Given the description of an element on the screen output the (x, y) to click on. 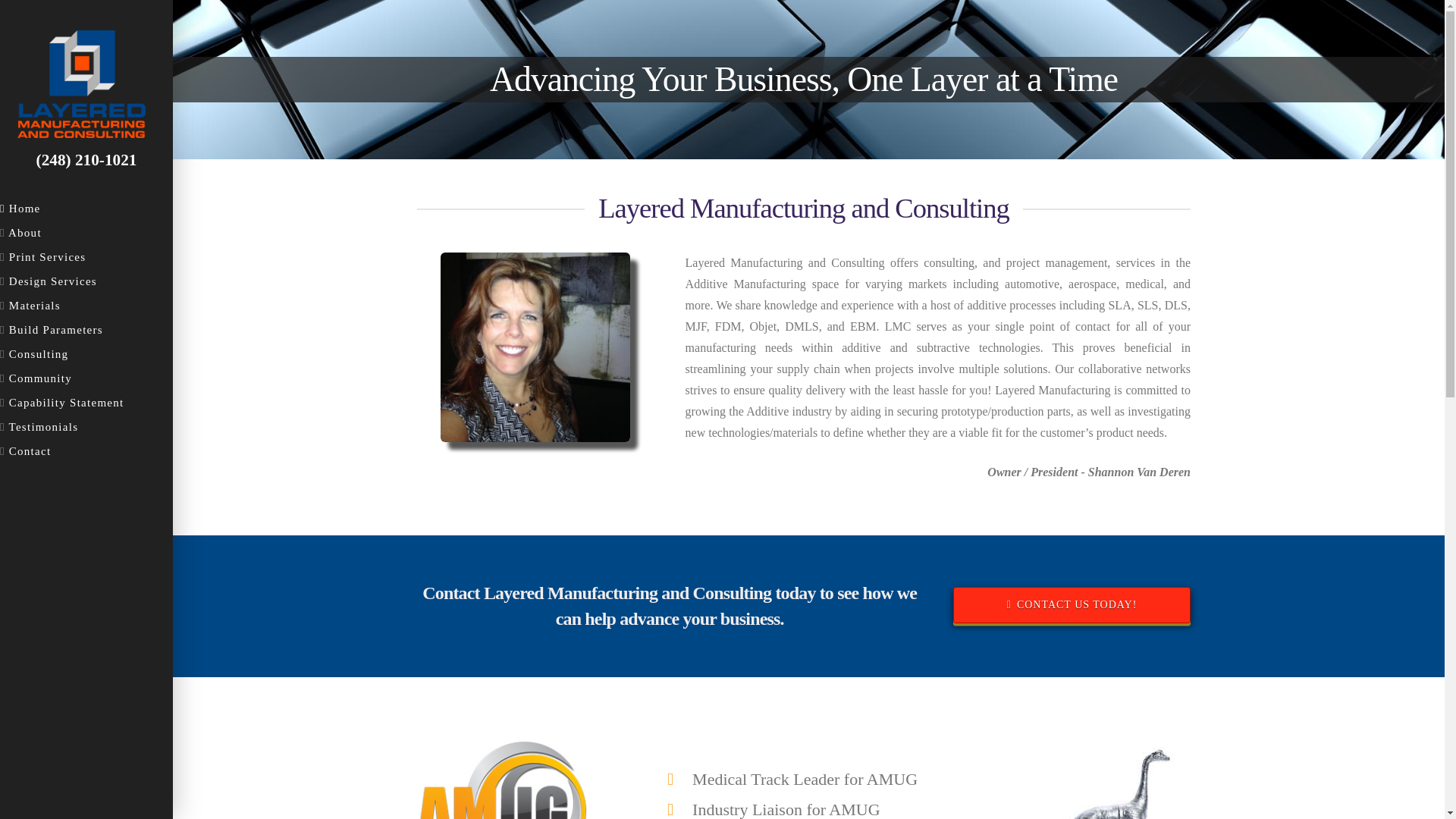
Consulting (86, 355)
Capability Statement (86, 404)
CONTACT US TODAY! (1072, 605)
Contact (86, 453)
Community (86, 380)
Home (86, 210)
About (86, 234)
Build Parameters (86, 331)
Home (86, 210)
About (86, 234)
Testimonials (86, 428)
Contact (86, 453)
Contact Layered Manufacturing and Consulting (1072, 605)
Print Services (86, 259)
Materials (86, 307)
